Given the description of an element on the screen output the (x, y) to click on. 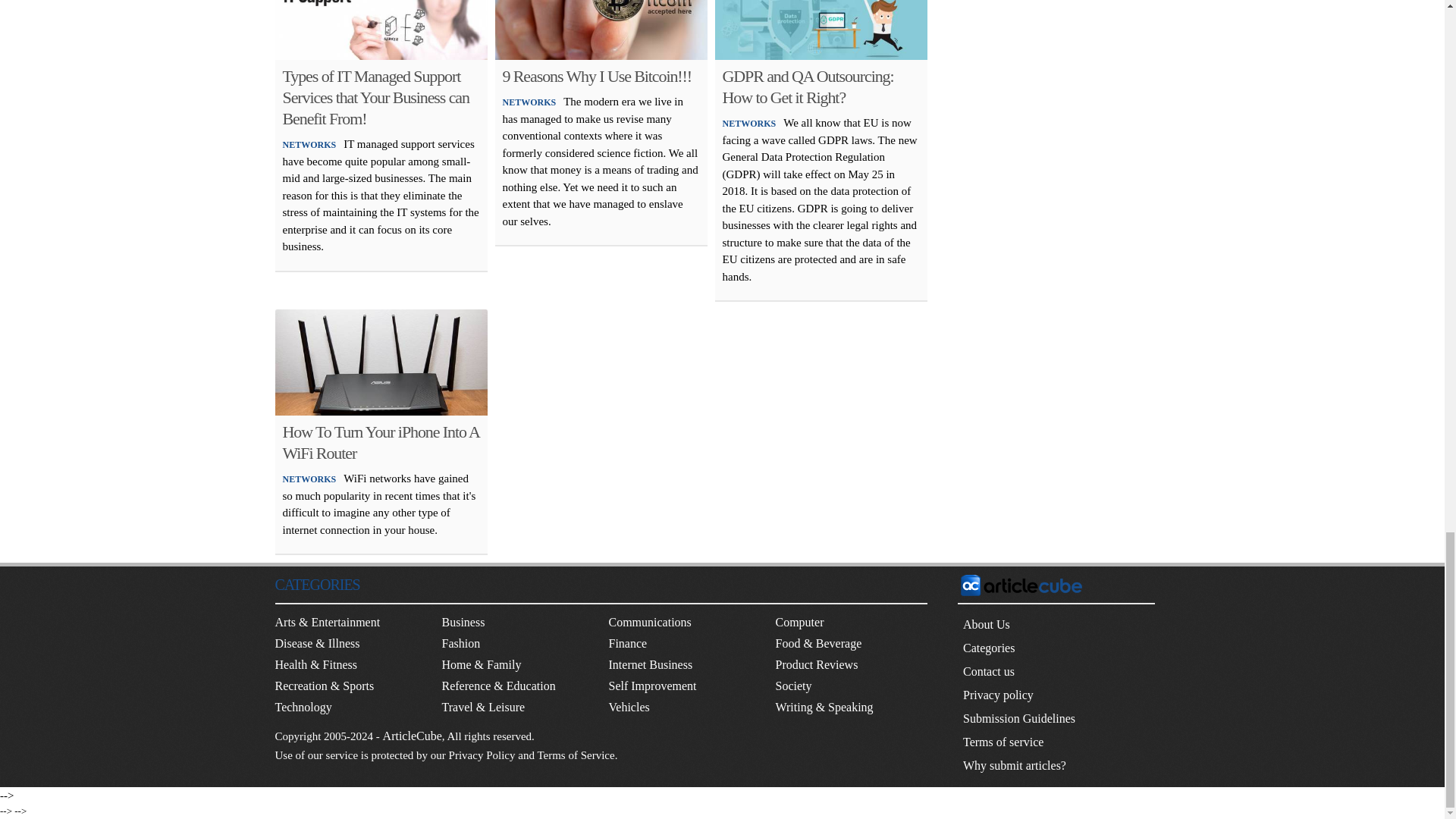
NETWORKS (529, 102)
NETWORKS (309, 479)
NETWORKS (309, 144)
GDPR and QA Outsourcing: How to Get it Right? (807, 86)
GDPR testing services (820, 29)
How To Turn Your iPhone Into A WiFi Router (380, 362)
9 Reasons Why I Use Bitcoin!!! (596, 75)
How To Turn Your iPhone Into A WiFi Router (380, 442)
